Given the description of an element on the screen output the (x, y) to click on. 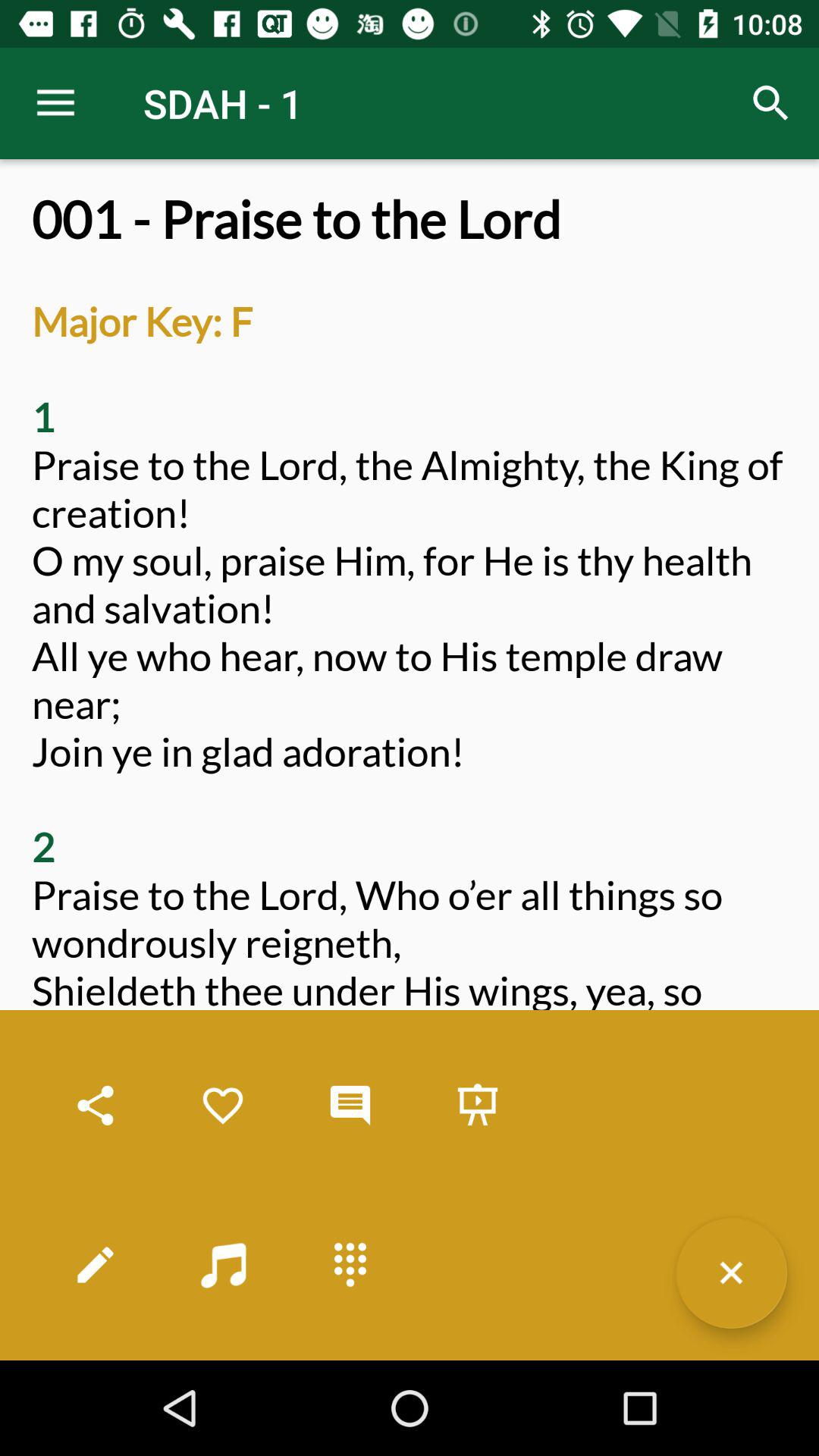
cloud notification (350, 1105)
